Given the description of an element on the screen output the (x, y) to click on. 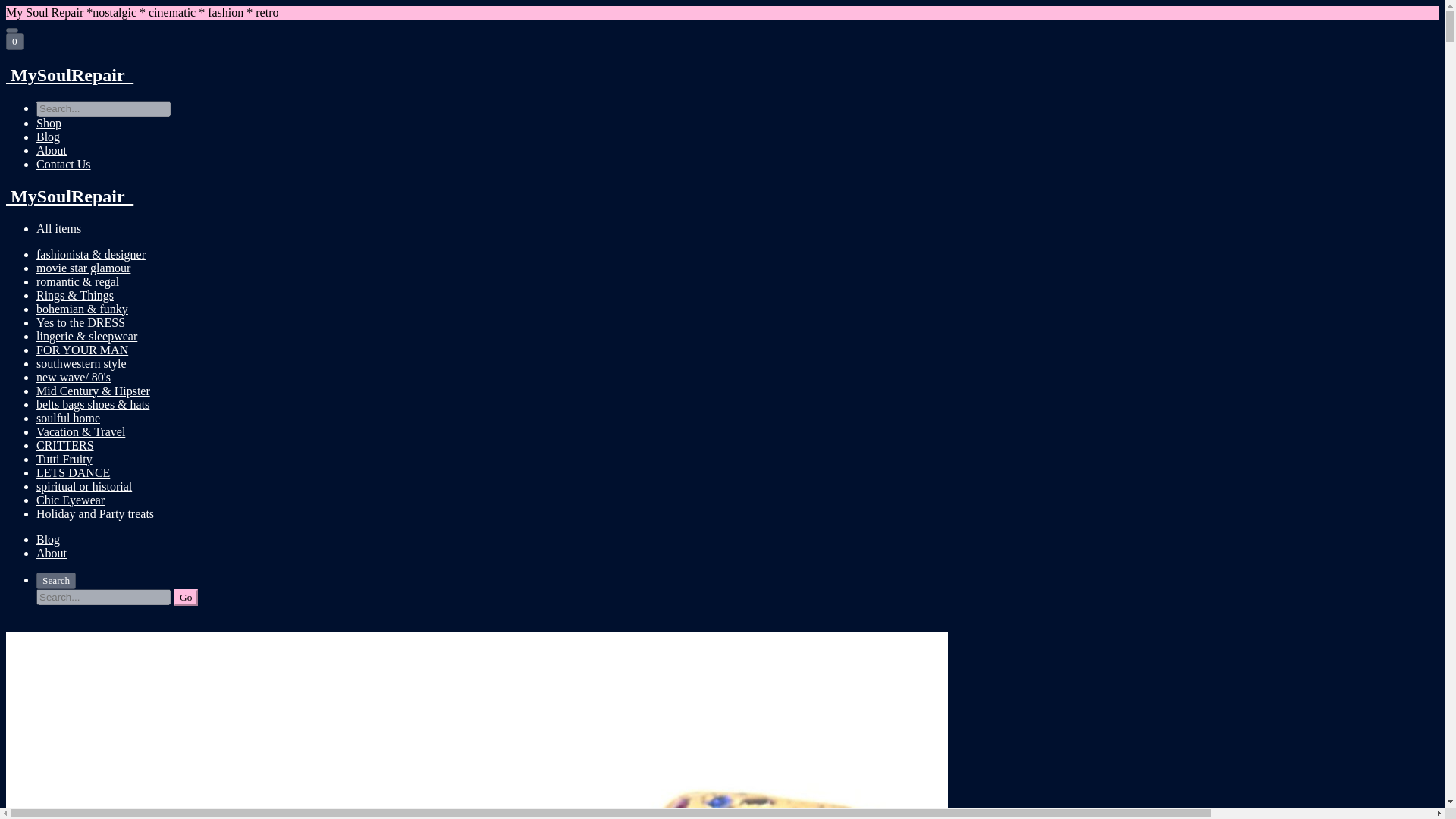
spiritual or historial (84, 486)
About (51, 553)
 MySoulRepair   (721, 196)
Tutti Fruity (64, 459)
CRITTERS (65, 445)
LETS DANCE (73, 472)
 MySoulRepair   (721, 75)
FOR YOUR MAN (82, 349)
0 (14, 41)
soulful home (68, 418)
Go (185, 597)
Chic Eyewear (70, 499)
Holiday and Party treats (95, 513)
About (51, 150)
movie star glamour (83, 267)
